Given the description of an element on the screen output the (x, y) to click on. 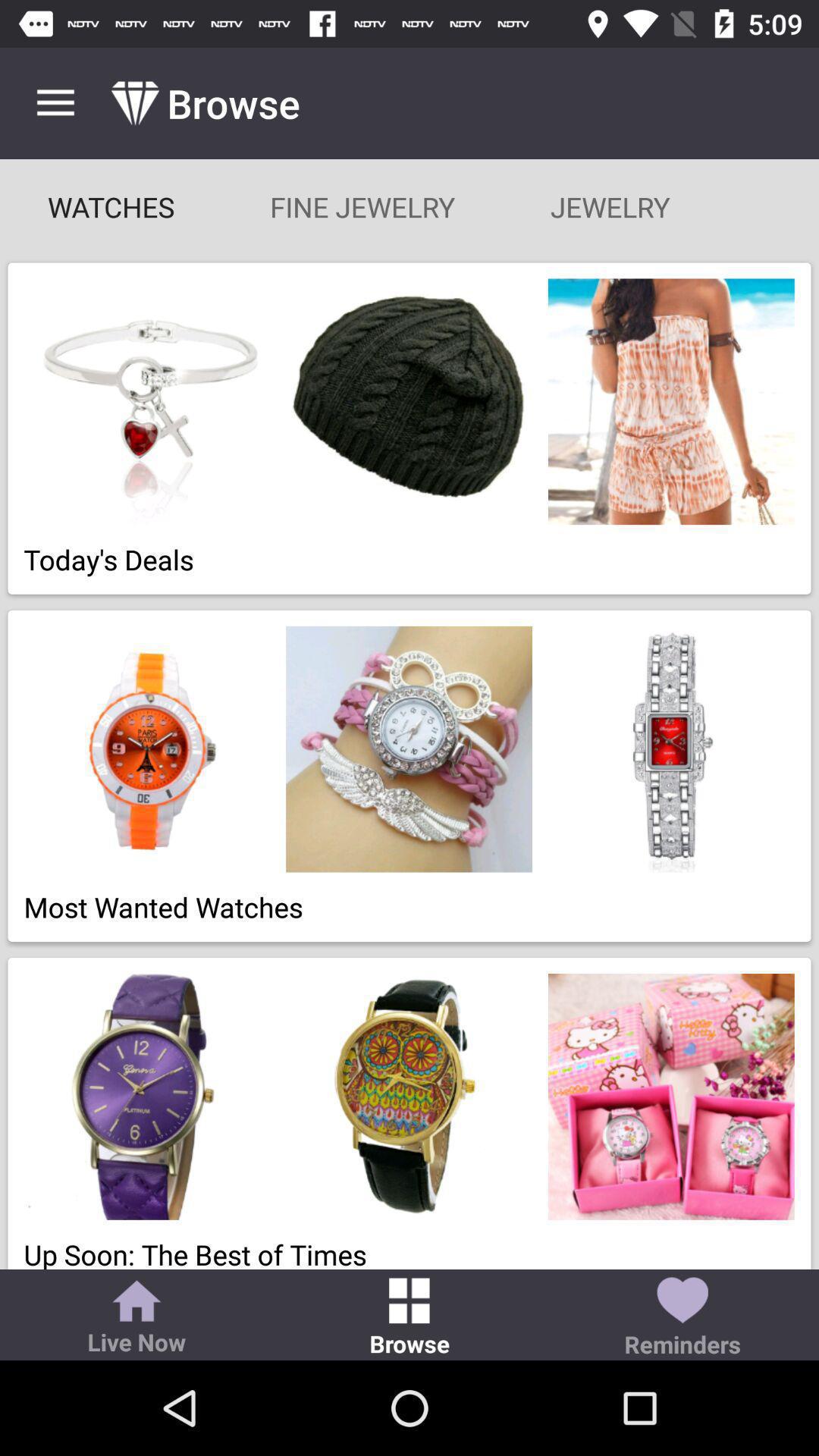
open live now item (136, 1318)
